Given the description of an element on the screen output the (x, y) to click on. 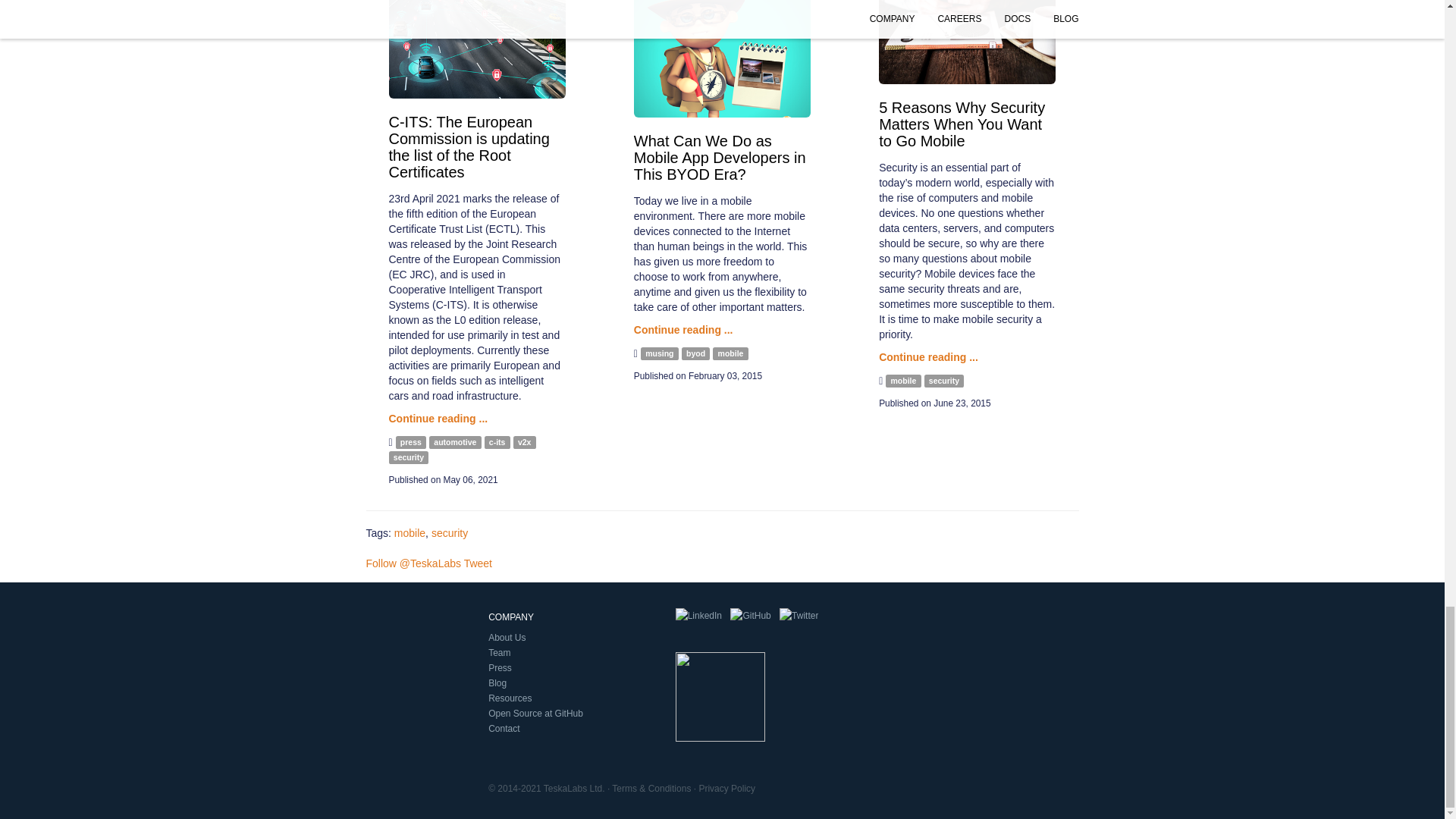
TeskaLabs at Twitter (798, 615)
c-its (497, 441)
press (411, 441)
byod (695, 353)
Open Source at GitHub (750, 615)
Continue reading ... (928, 357)
What Can We Do as Mobile App Developers in This BYOD Era? (719, 157)
automotive (455, 441)
security (408, 457)
